Given the description of an element on the screen output the (x, y) to click on. 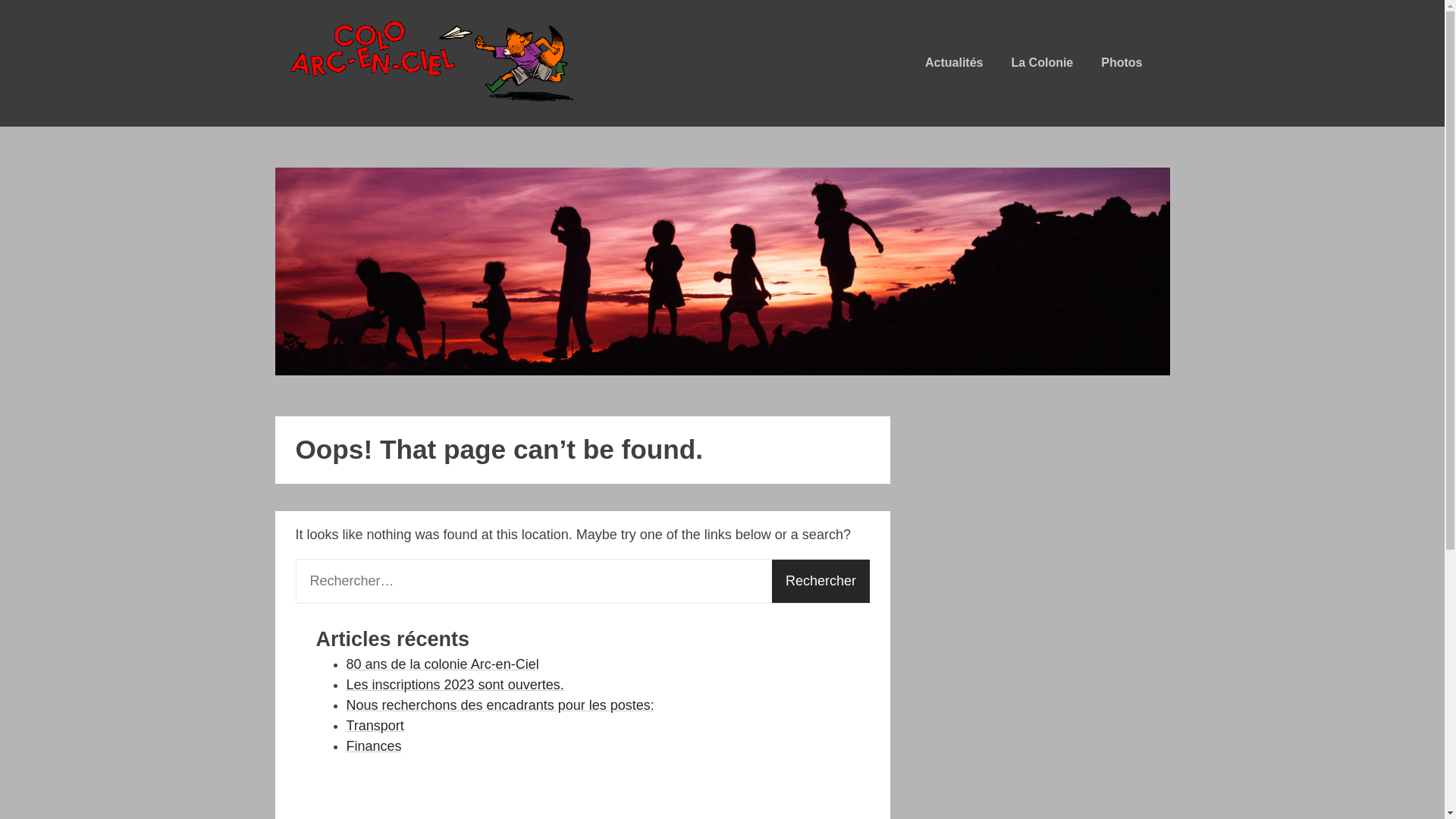
80 ans de la colonie Arc-en-Ciel Element type: text (441, 665)
La Colonie Element type: text (1041, 62)
Rechercher Element type: text (820, 580)
Nous recherchons des encadrants pour les postes: Element type: text (499, 706)
Les inscriptions 2023 sont ouvertes. Element type: text (454, 685)
Colonie Arc en Ciel Element type: text (392, 130)
Photos Element type: text (1121, 62)
Transport Element type: text (374, 726)
Finances Element type: text (373, 747)
